Given the description of an element on the screen output the (x, y) to click on. 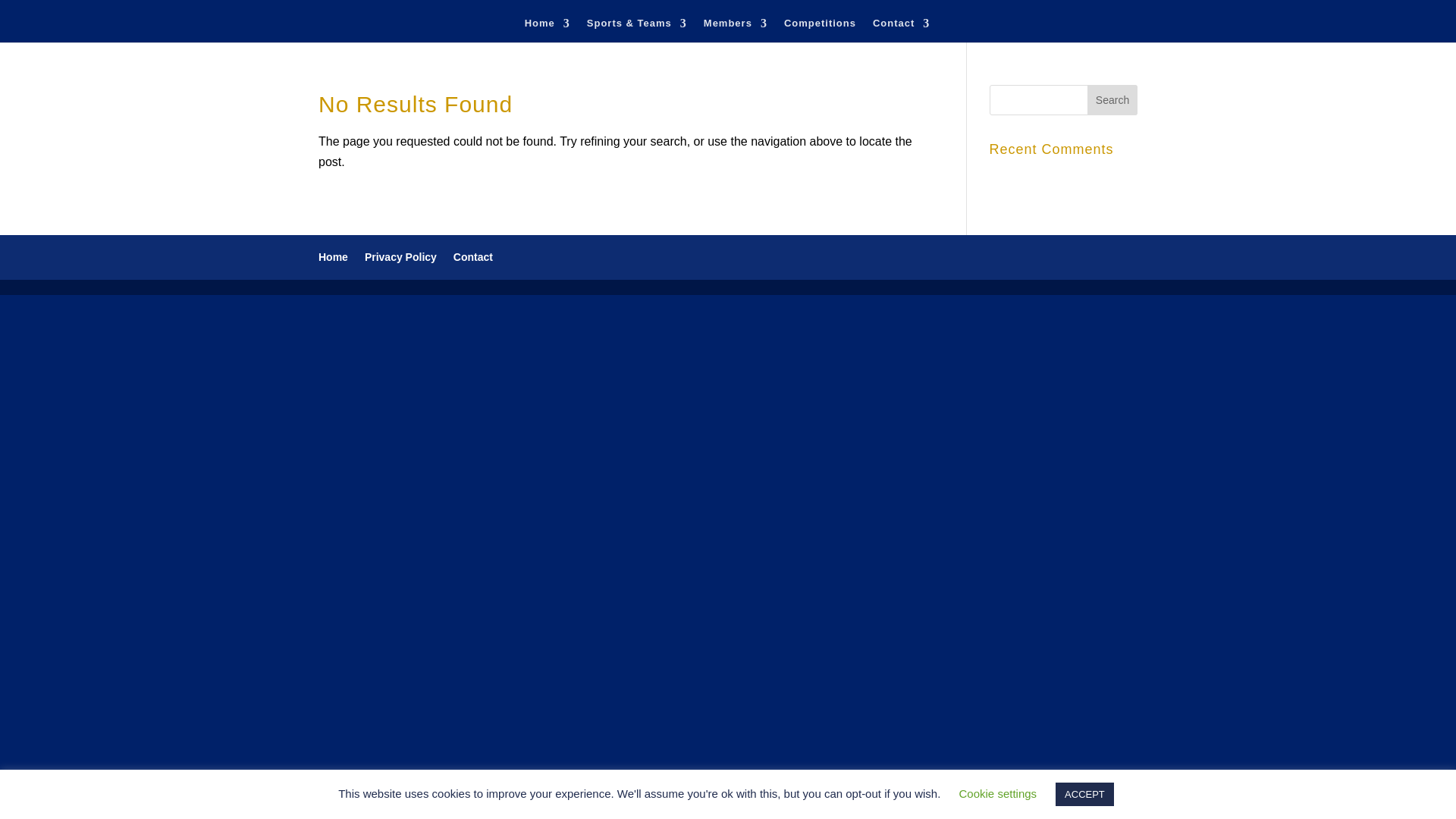
Home (547, 30)
Search (1112, 100)
Contact (901, 30)
Members (735, 30)
Competitions (820, 30)
